Given the description of an element on the screen output the (x, y) to click on. 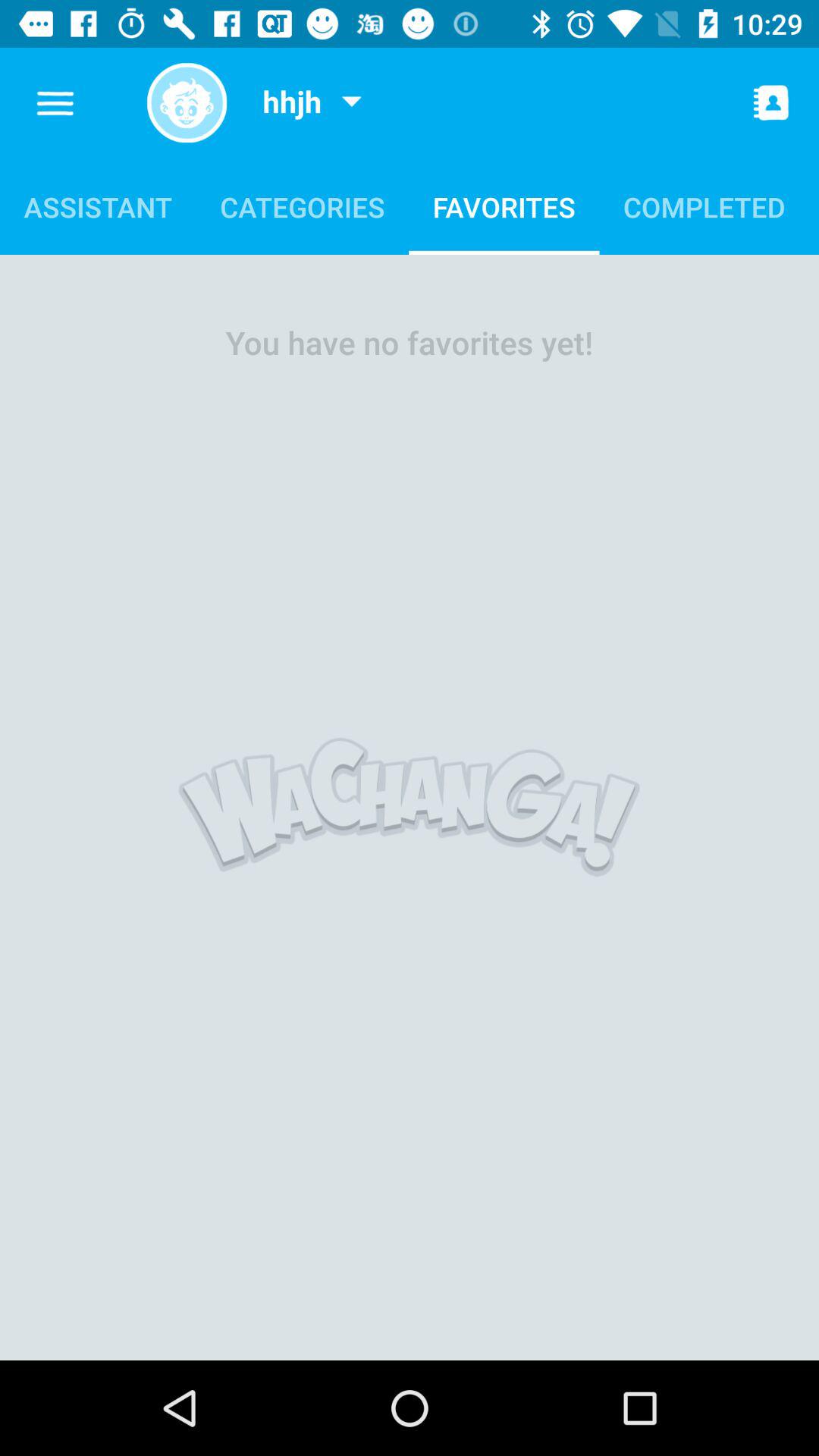
open the item to the right of the hhjh (351, 102)
